Given the description of an element on the screen output the (x, y) to click on. 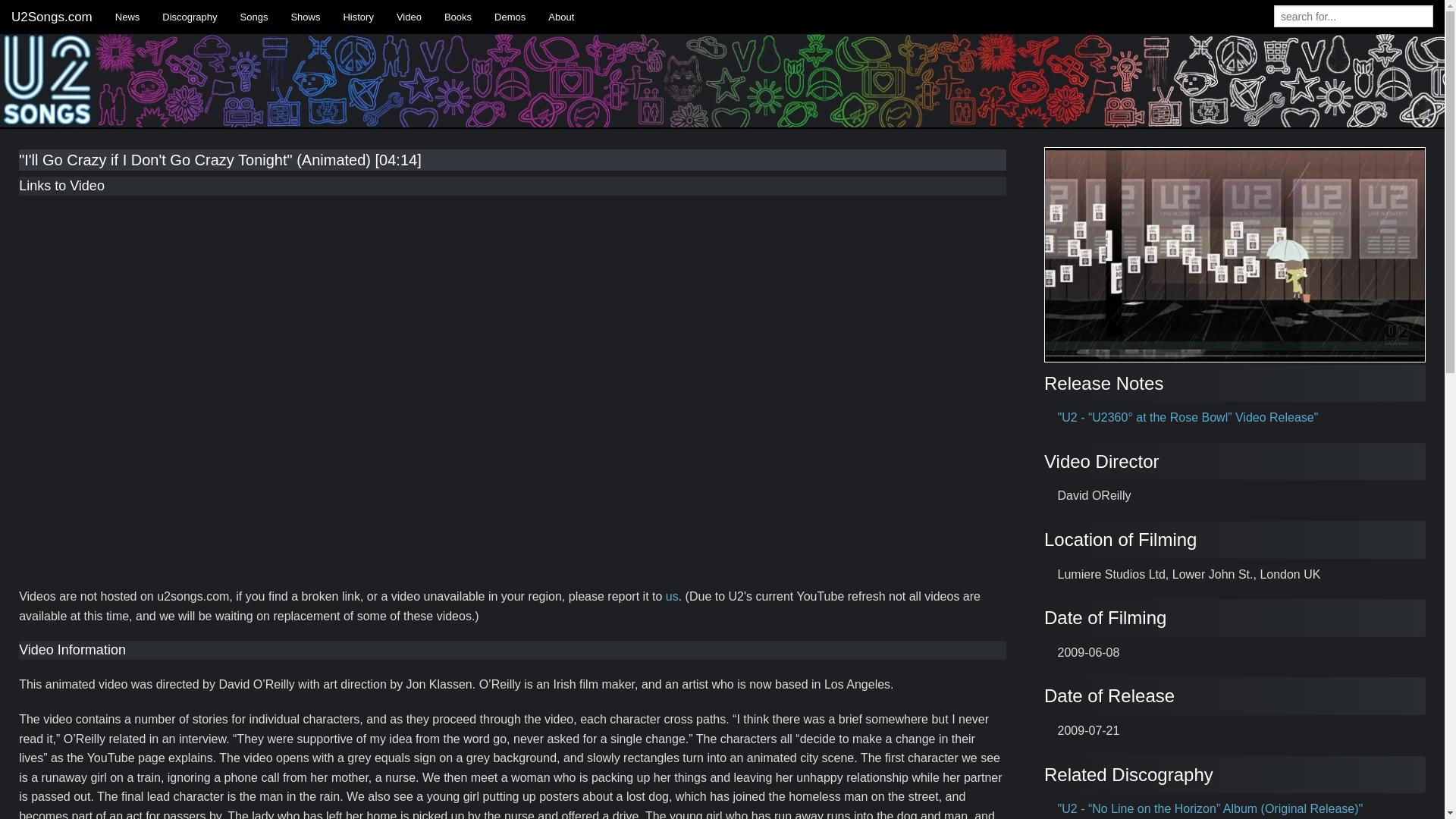
News (127, 17)
History (357, 17)
Video (408, 17)
us (671, 595)
Demos (510, 17)
Books (457, 17)
Shows (305, 17)
Discography (189, 17)
U2Songs.com (51, 17)
Songs (253, 17)
About (561, 17)
